Given the description of an element on the screen output the (x, y) to click on. 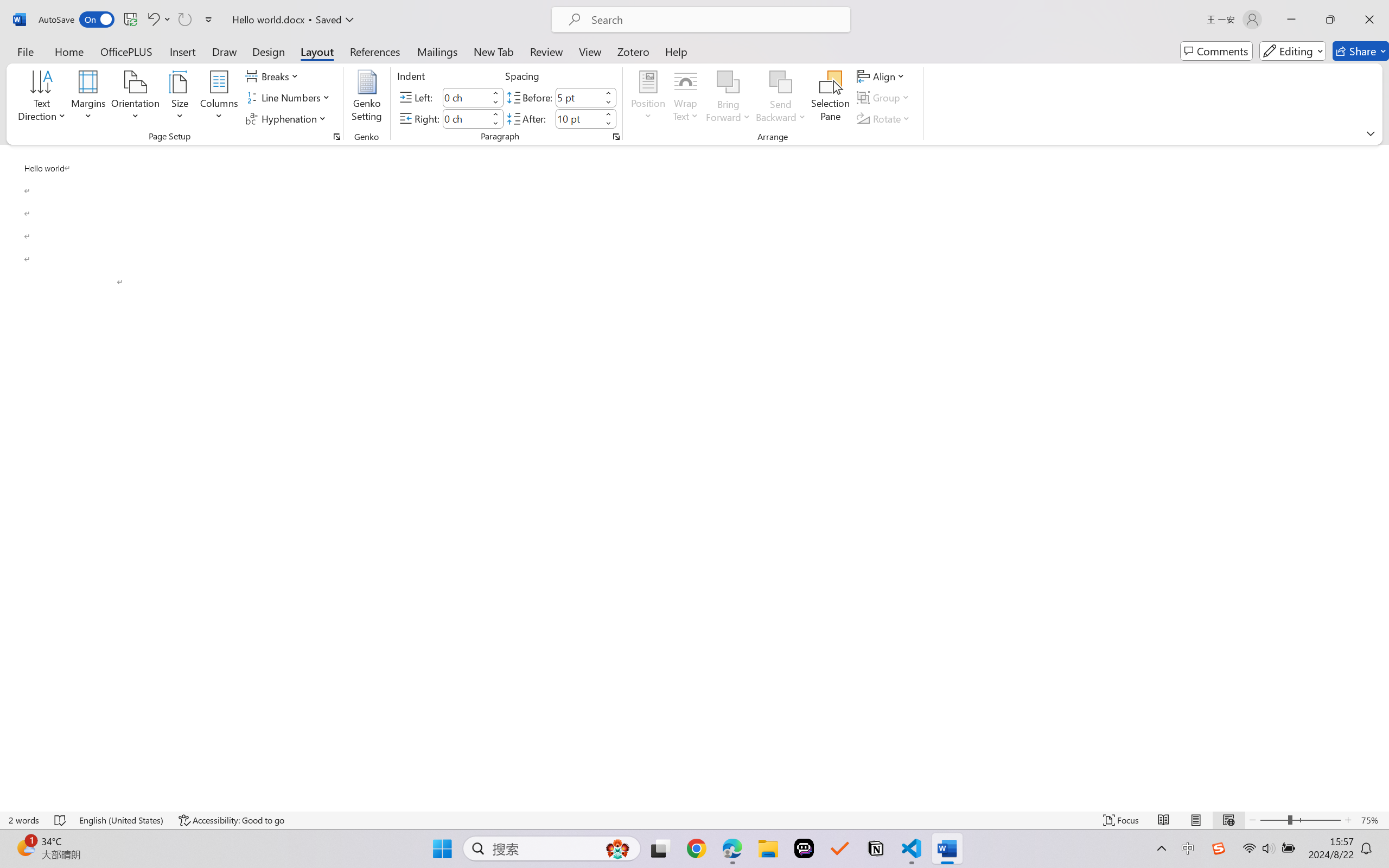
Minimize (1291, 19)
Indent Right (465, 118)
AutomationID: BadgeAnchorLargeTicker (24, 847)
OfficePLUS (126, 51)
Indent Left (465, 96)
Layout (316, 51)
Undo Subscript (158, 19)
Send Backward (781, 81)
Share (1360, 51)
Print Layout (1196, 819)
More Options (781, 112)
Ribbon Display Options (1370, 132)
